Given the description of an element on the screen output the (x, y) to click on. 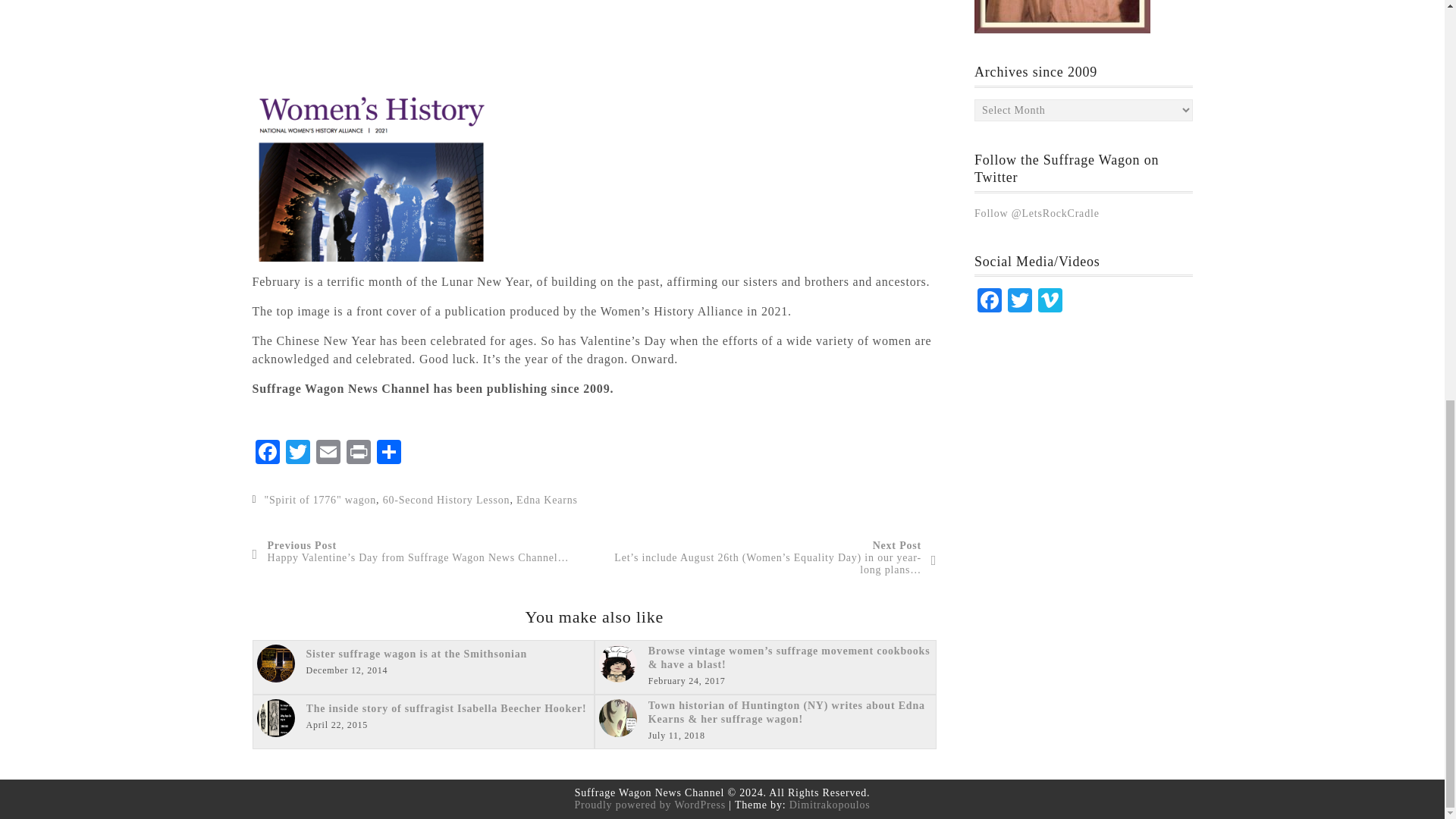
Facebook (989, 302)
Twitter (297, 453)
Email (327, 453)
Twitter (1019, 302)
vimeo-player (493, 38)
Vimeo (1050, 302)
Facebook (266, 453)
Print (357, 453)
